Given the description of an element on the screen output the (x, y) to click on. 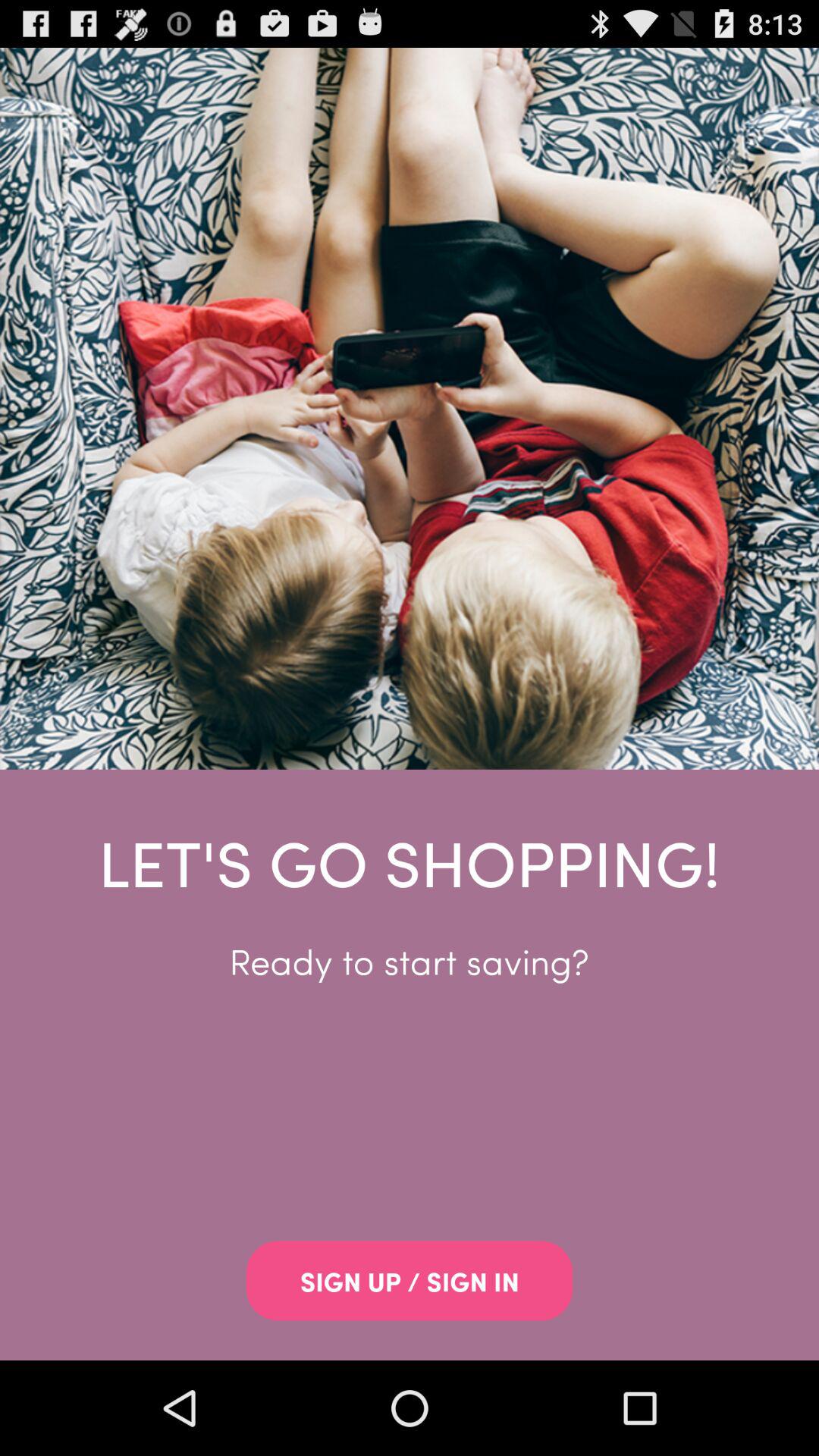
choose app below the ready to start (409, 1280)
